Given the description of an element on the screen output the (x, y) to click on. 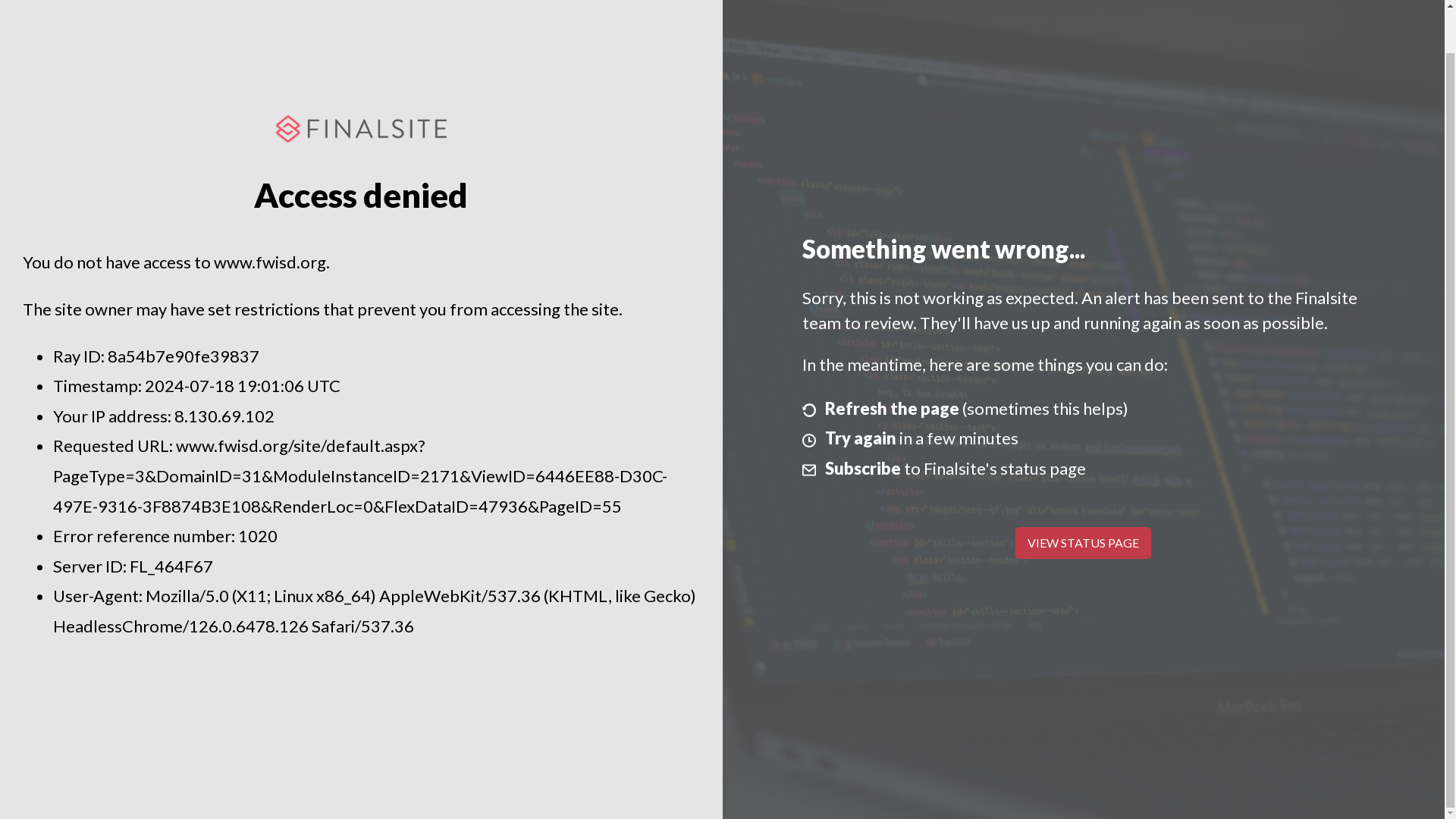
VIEW STATUS PAGE (1082, 542)
